Given the description of an element on the screen output the (x, y) to click on. 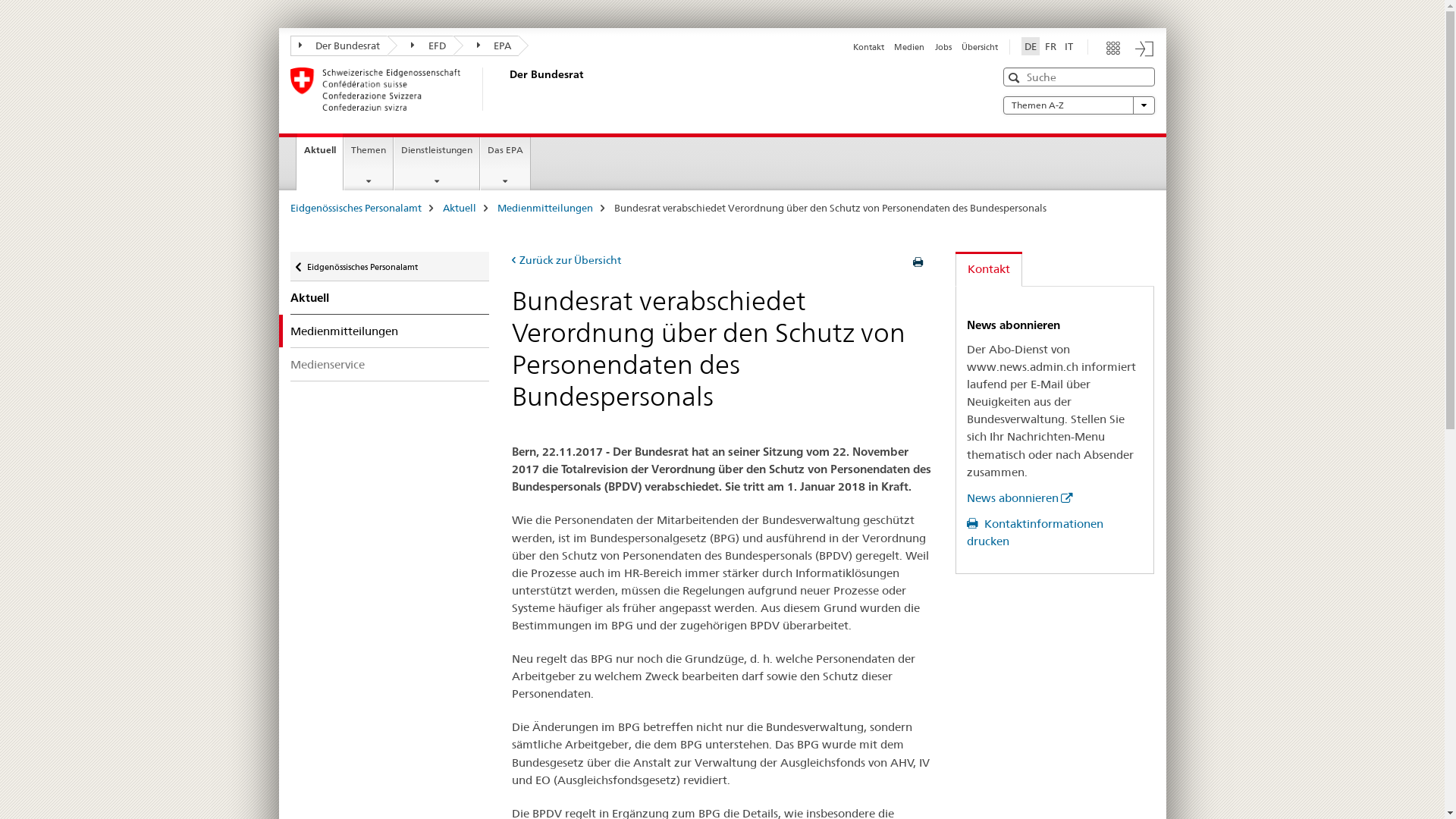
Der Bundesrat Element type: text (338, 45)
Medienservice Element type: text (389, 364)
Themen A-Z Element type: text (1078, 105)
Suche Element type: text (1015, 77)
Medien Element type: text (909, 46)
Kontakt Element type: text (868, 46)
Medienmitteilungen Element type: text (545, 207)
Aktuell
current page Element type: text (319, 161)
Jobs Element type: text (943, 46)
IT Element type: text (1068, 46)
Der Bundesrat Element type: text (505, 88)
Dienstleistungen Element type: text (436, 163)
Aktuell Element type: text (459, 207)
FR Element type: text (1050, 46)
Das EPA Element type: text (505, 163)
EFD Element type: text (420, 45)
DE Element type: text (1030, 46)
Aktuell Element type: text (389, 297)
Themen Element type: text (368, 163)
Kontakt Element type: text (988, 269)
EPA Element type: text (486, 45)
Kontaktinformationen drucken Element type: text (1034, 532)
News abonnieren Element type: text (1019, 497)
